Given the description of an element on the screen output the (x, y) to click on. 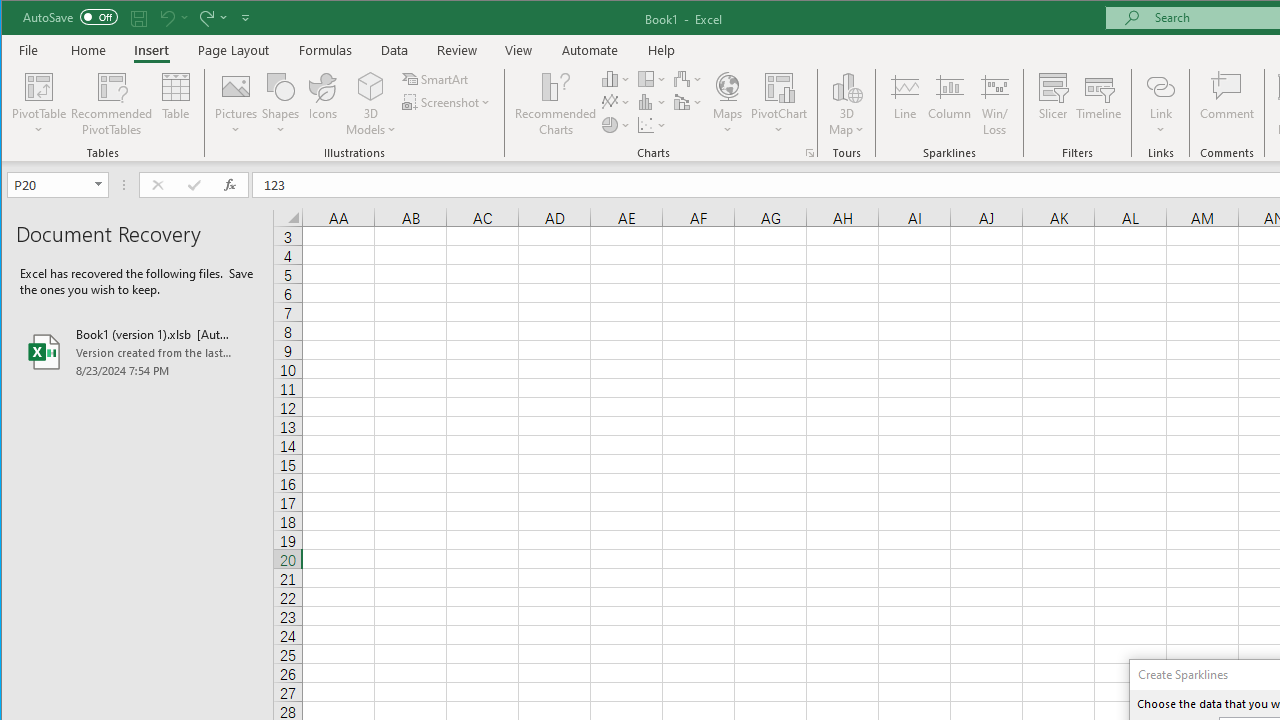
Column (949, 104)
Recommended Charts (809, 152)
PivotTable (39, 104)
Win/Loss (995, 104)
Icons (323, 104)
3D Models (371, 86)
Insert Hierarchy Chart (652, 78)
PivotTable (39, 86)
Insert Waterfall, Funnel, Stock, Surface, or Radar Chart (688, 78)
Insert Scatter (X, Y) or Bubble Chart (652, 124)
